Given the description of an element on the screen output the (x, y) to click on. 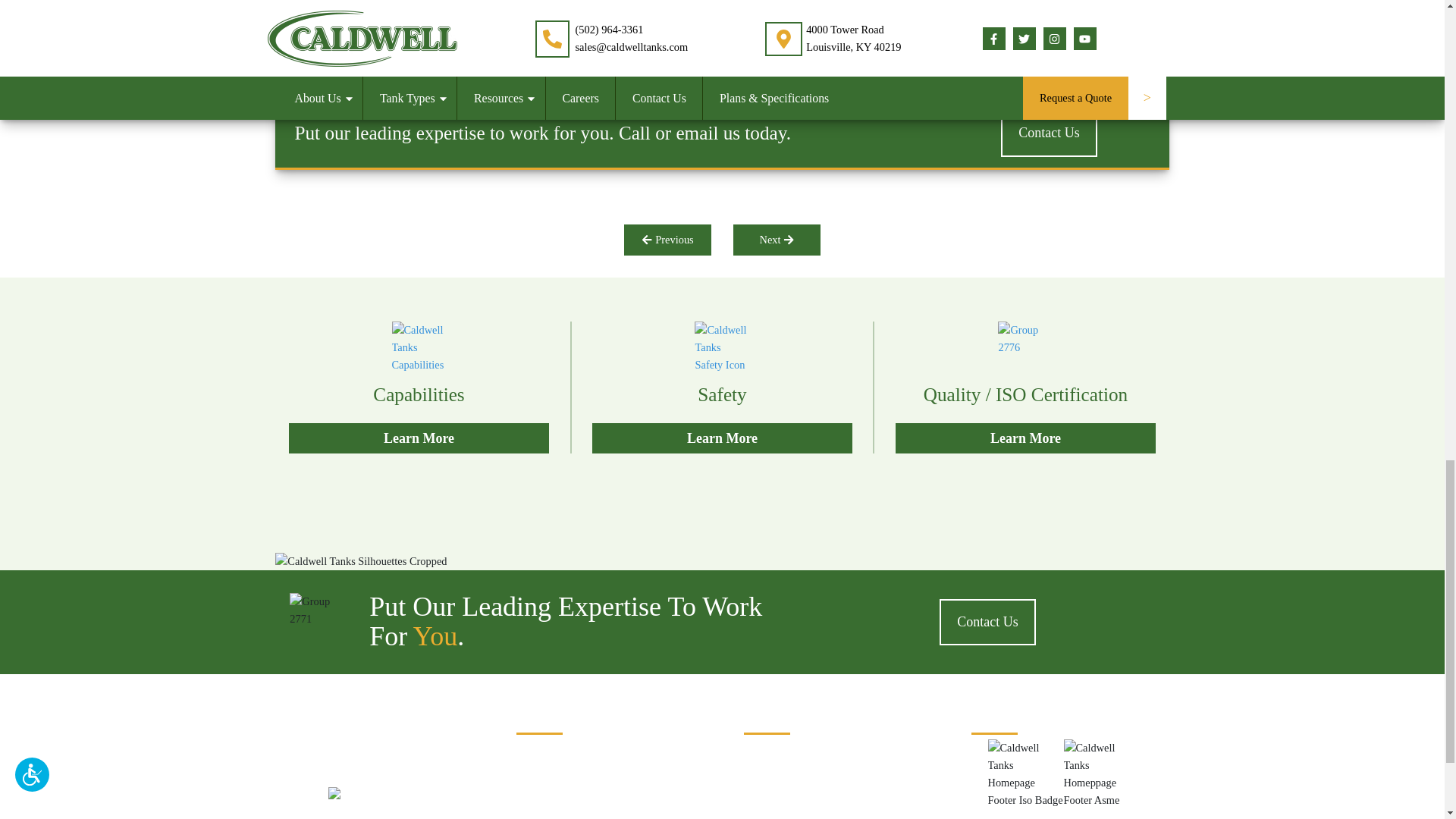
Caldwell Tanks Google Map (792, 756)
Homepage (381, 795)
Learn More about our safety initiatives (721, 387)
Learn More about our ISO Certification (1024, 387)
Learn More about our capabilities (418, 387)
